Given the description of an element on the screen output the (x, y) to click on. 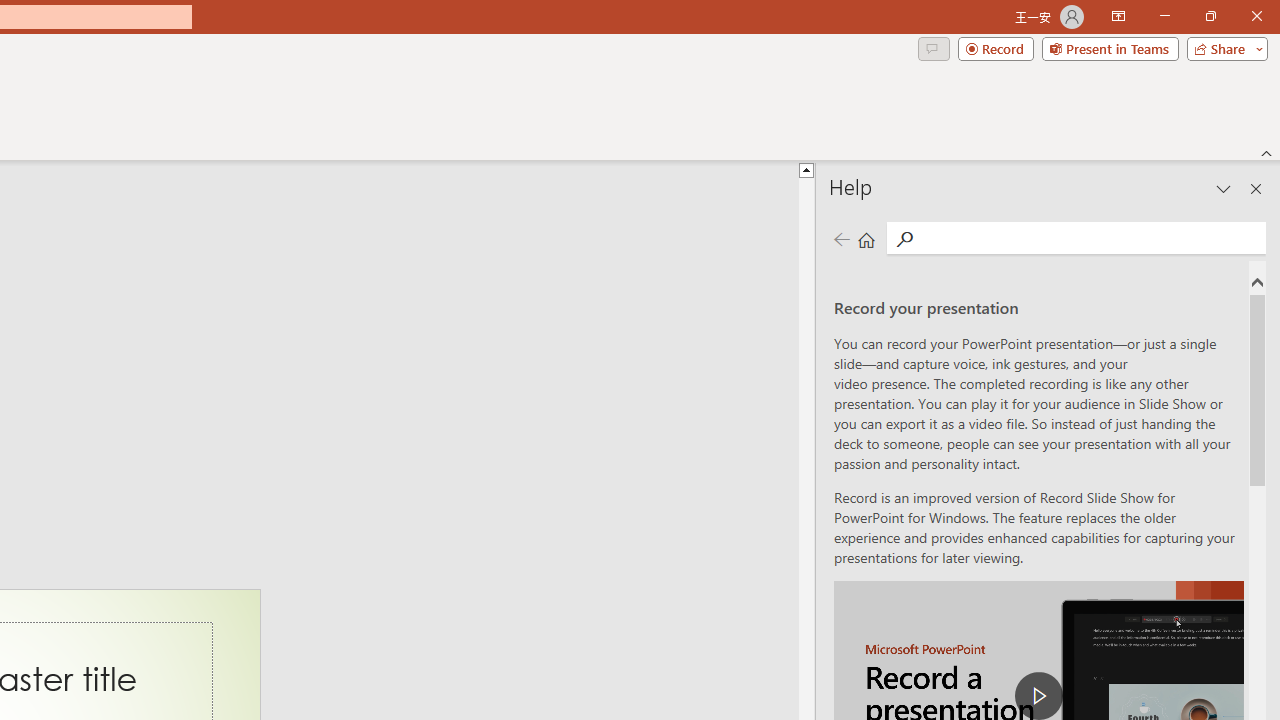
play Record a Presentation (1038, 695)
Previous page (841, 238)
